Given the description of an element on the screen output the (x, y) to click on. 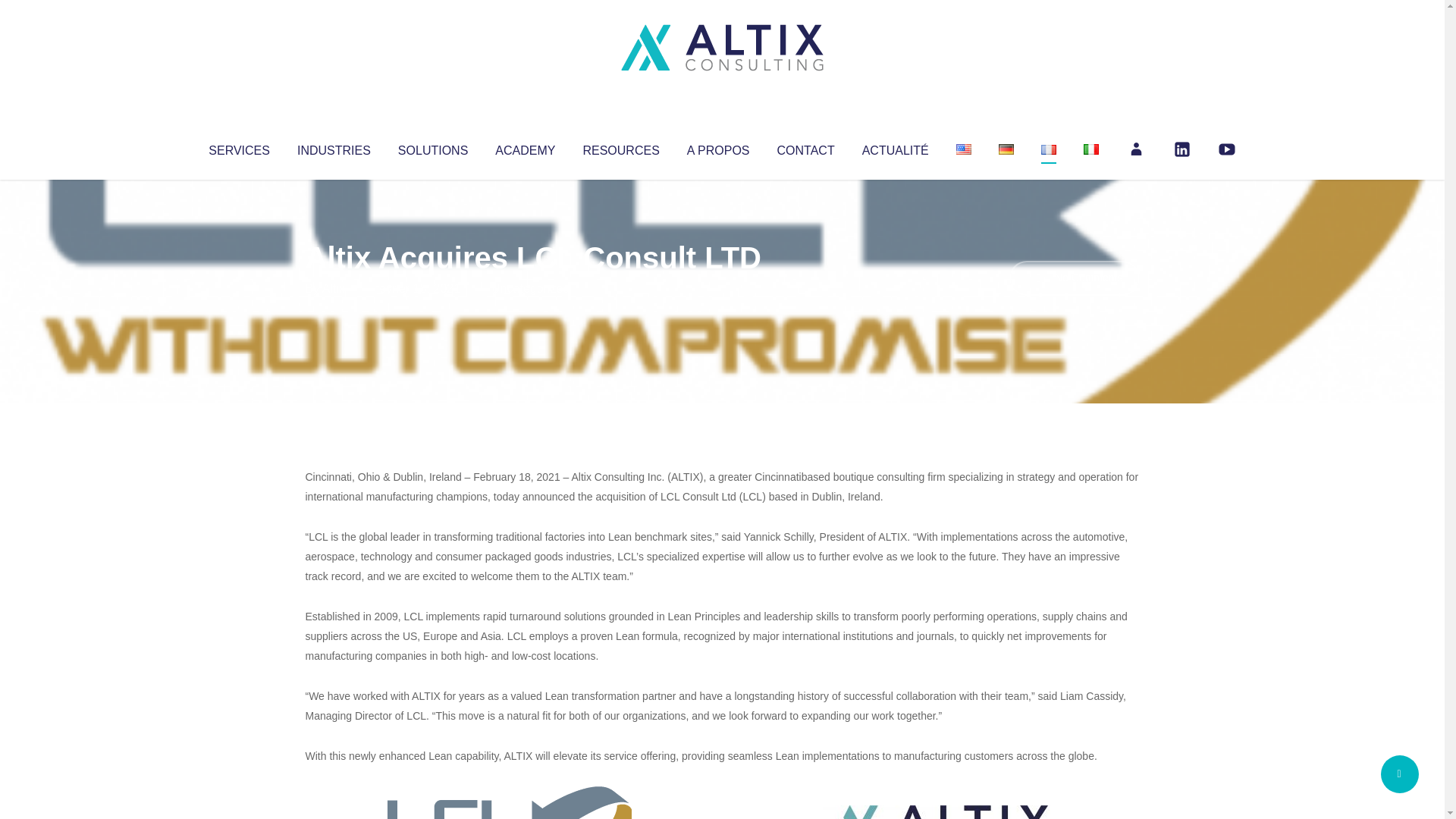
SERVICES (238, 146)
ACADEMY (524, 146)
SOLUTIONS (432, 146)
A PROPOS (718, 146)
No Comments (1073, 278)
Uncategorized (530, 287)
Altix (333, 287)
Articles par Altix (333, 287)
RESOURCES (620, 146)
INDUSTRIES (334, 146)
